Given the description of an element on the screen output the (x, y) to click on. 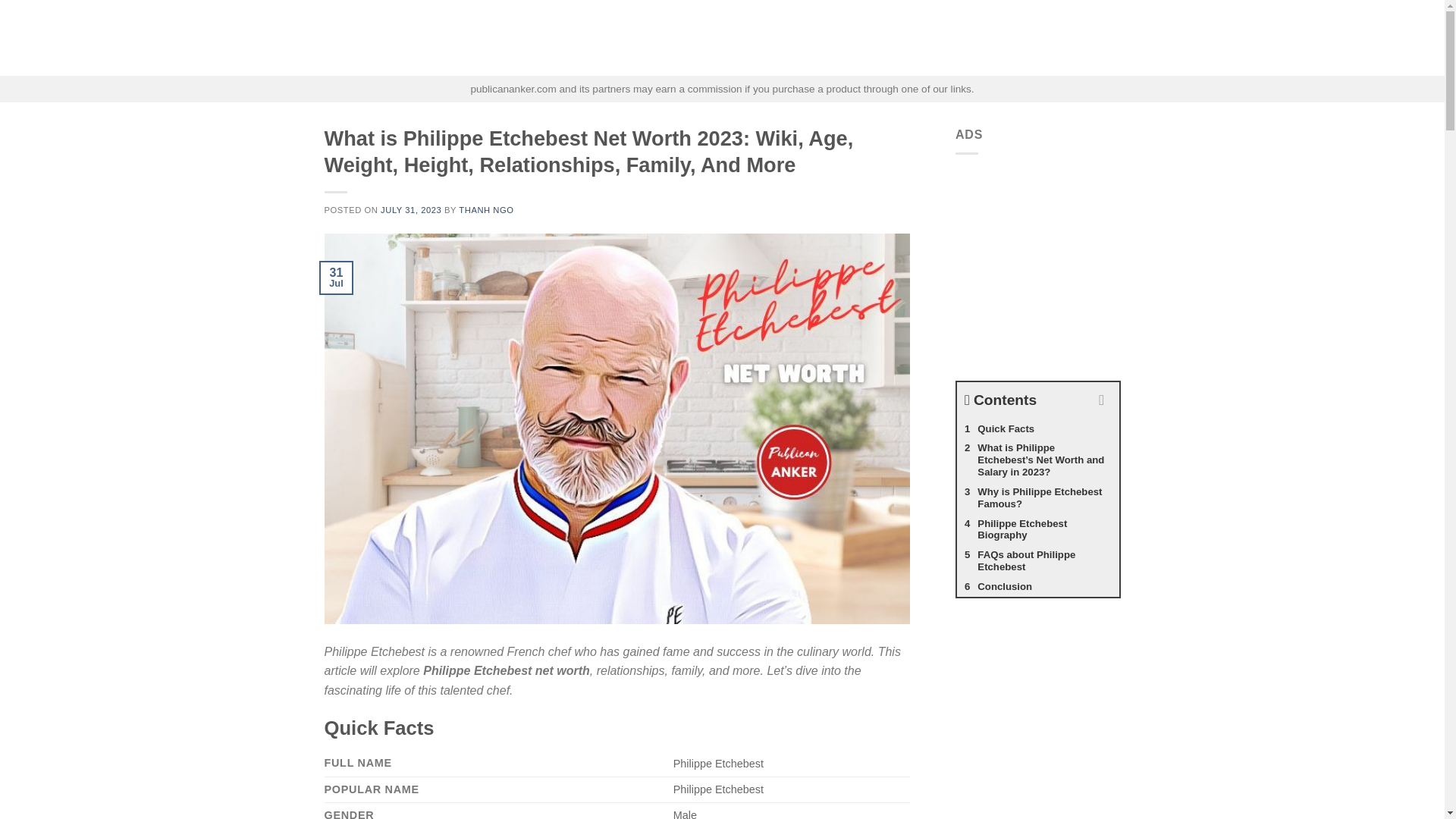
REFRIGERATORS (829, 37)
ICE MAKERS (990, 37)
GAS RANGE (741, 37)
Philippe Etchebest Biography (1037, 530)
COOLERS (1055, 37)
THANH NGO (485, 209)
APPLIANCES (668, 37)
BLOG (1106, 37)
PUBLICAN ANKER (400, 37)
Advertisement (1068, 261)
JULY 31, 2023 (410, 209)
DRINKWARE (916, 37)
